Given the description of an element on the screen output the (x, y) to click on. 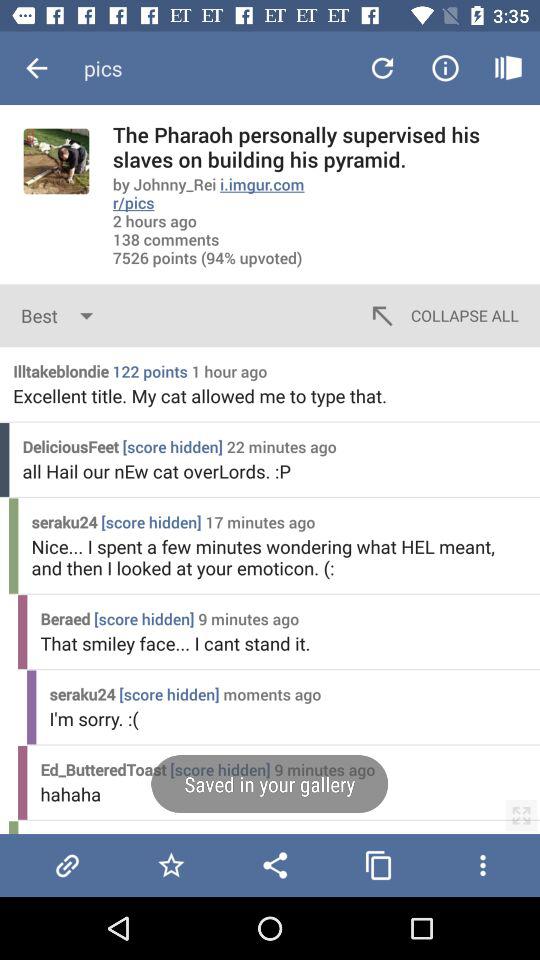
copie (378, 865)
